Given the description of an element on the screen output the (x, y) to click on. 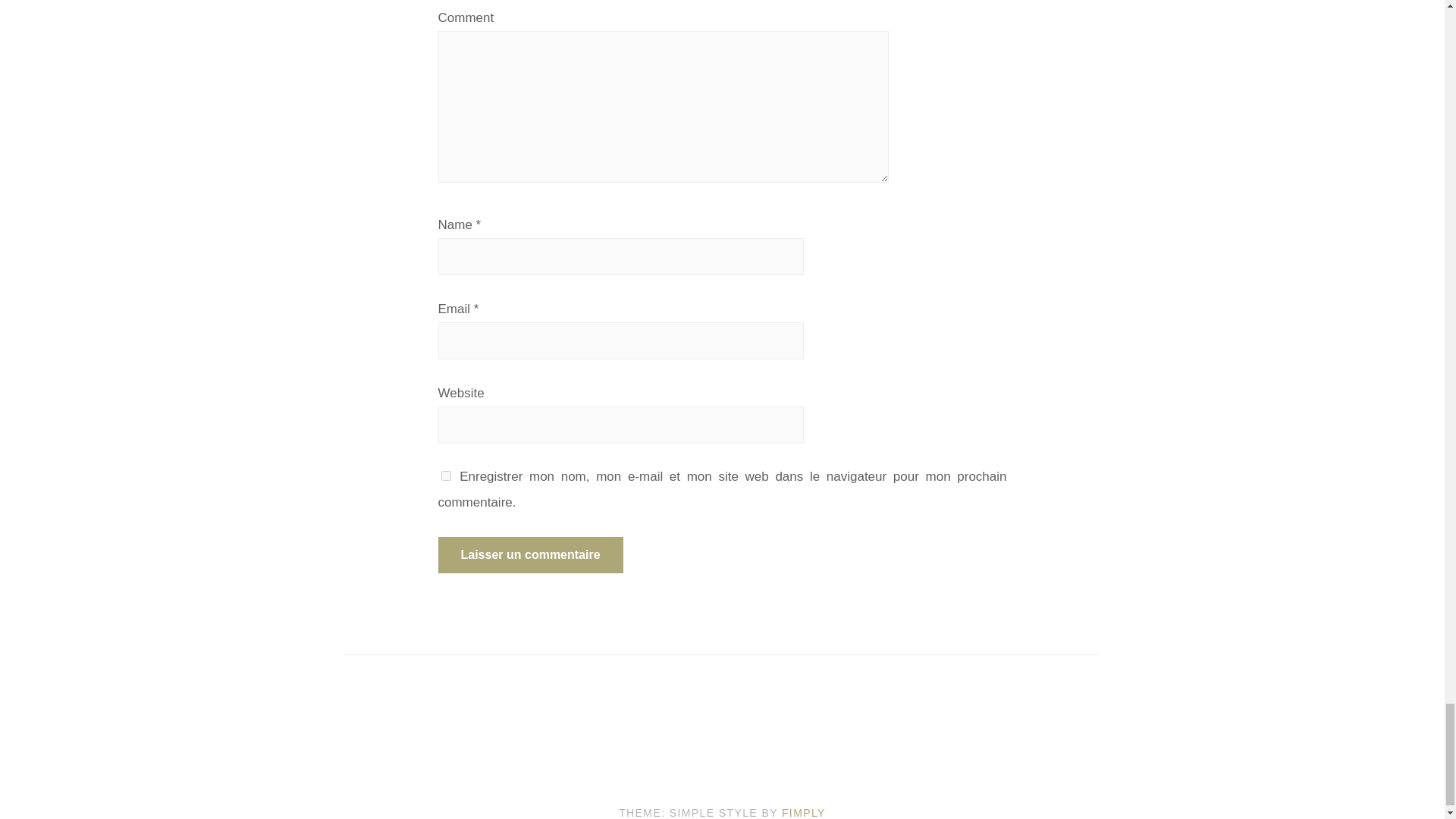
yes (446, 475)
Laisser un commentaire (530, 555)
Laisser un commentaire (530, 555)
